Given the description of an element on the screen output the (x, y) to click on. 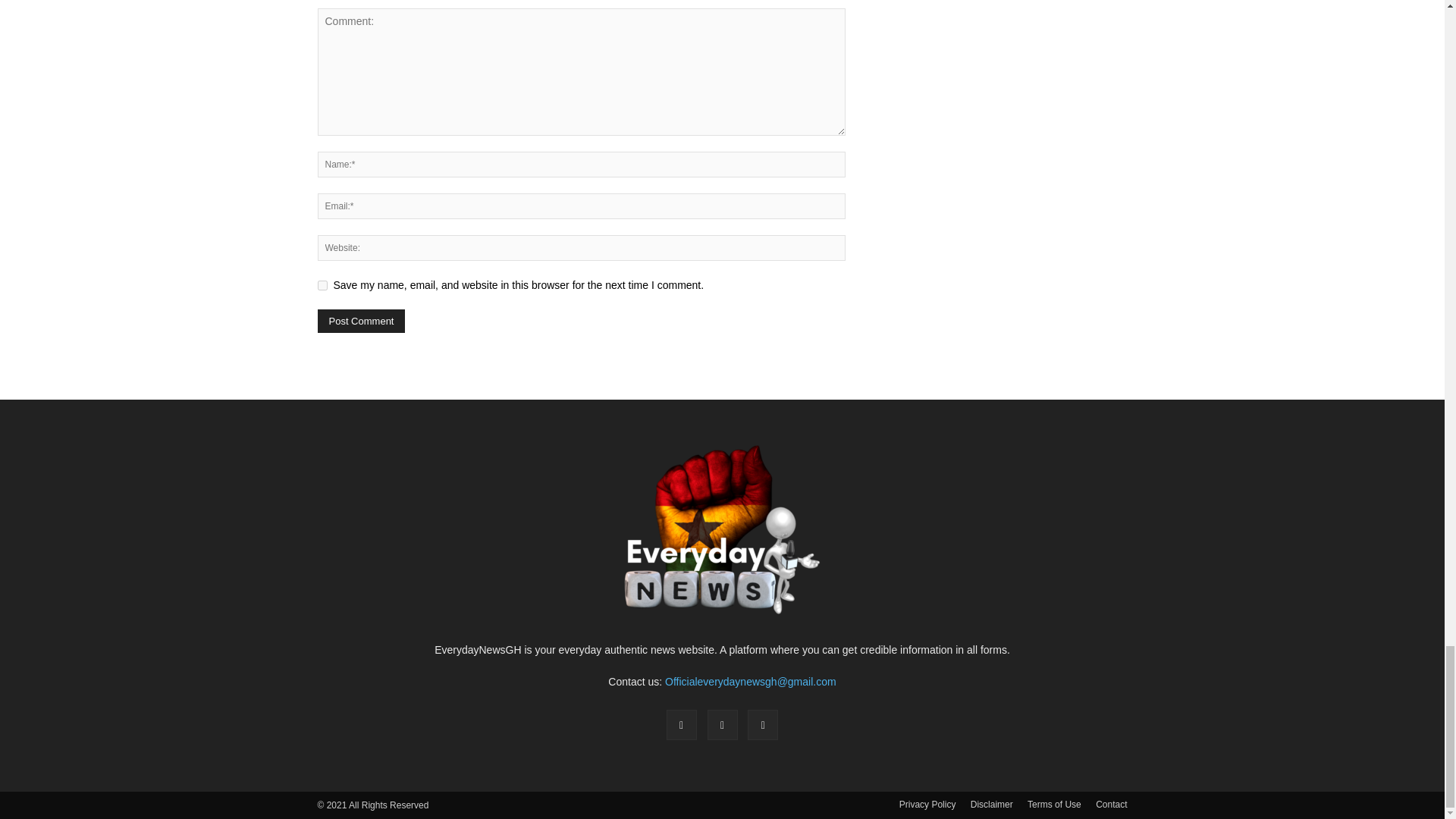
Post Comment (360, 320)
yes (321, 285)
